Given the description of an element on the screen output the (x, y) to click on. 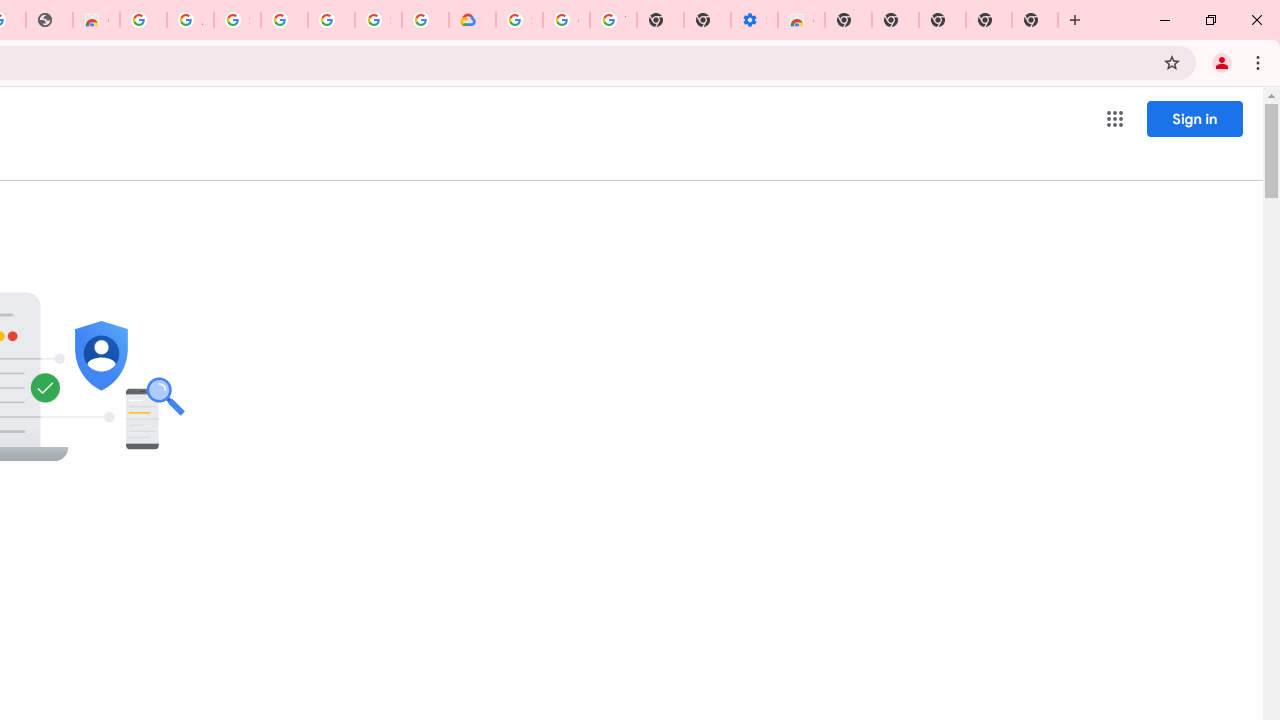
Sign in - Google Accounts (377, 20)
Sign in - Google Accounts (518, 20)
Chrome Web Store - Accessibility extensions (801, 20)
Settings - Accessibility (754, 20)
